Given the description of an element on the screen output the (x, y) to click on. 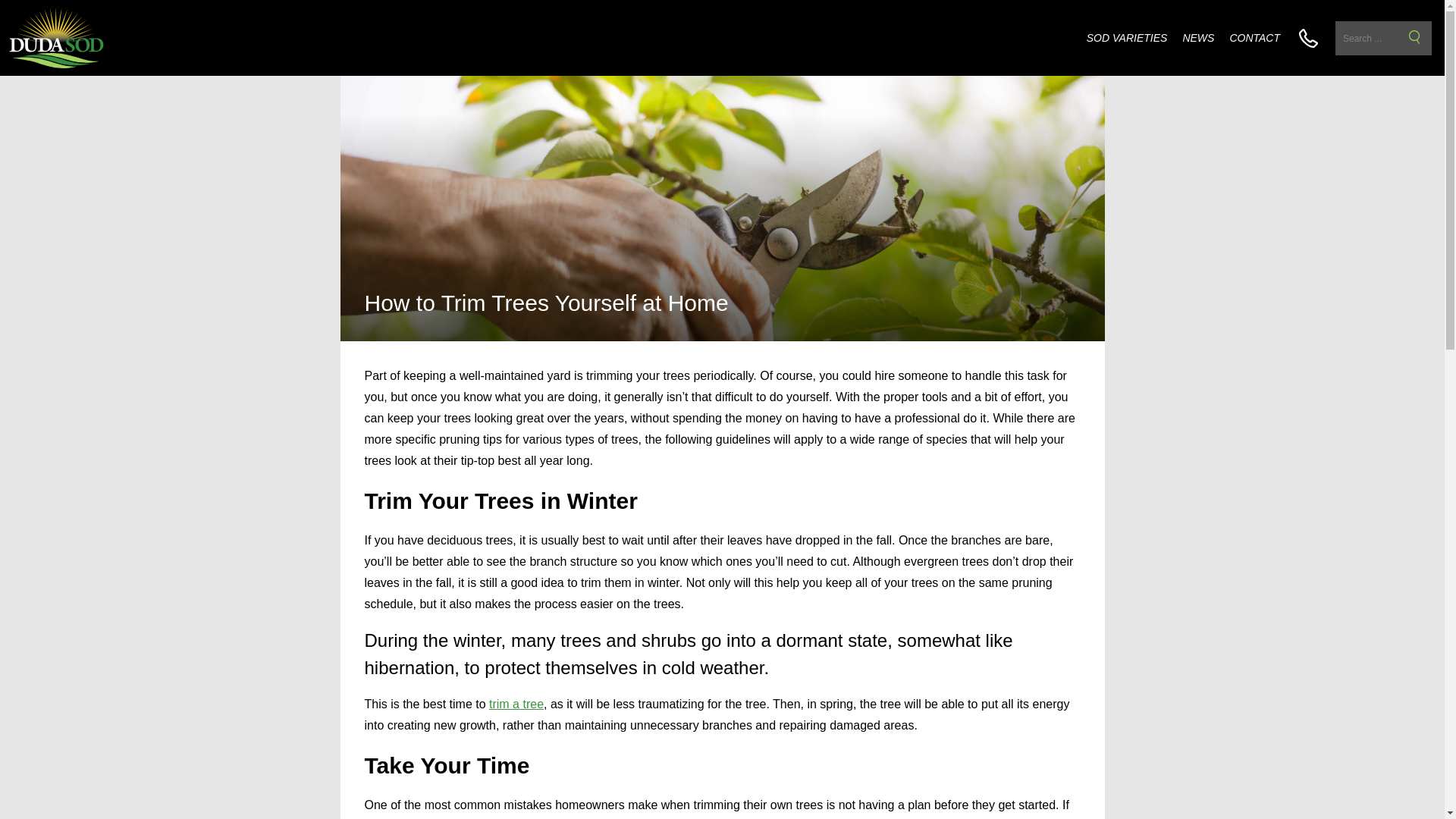
trim a tree (516, 703)
Search for: (1383, 38)
SOD VARIETIES (1126, 38)
